Given the description of an element on the screen output the (x, y) to click on. 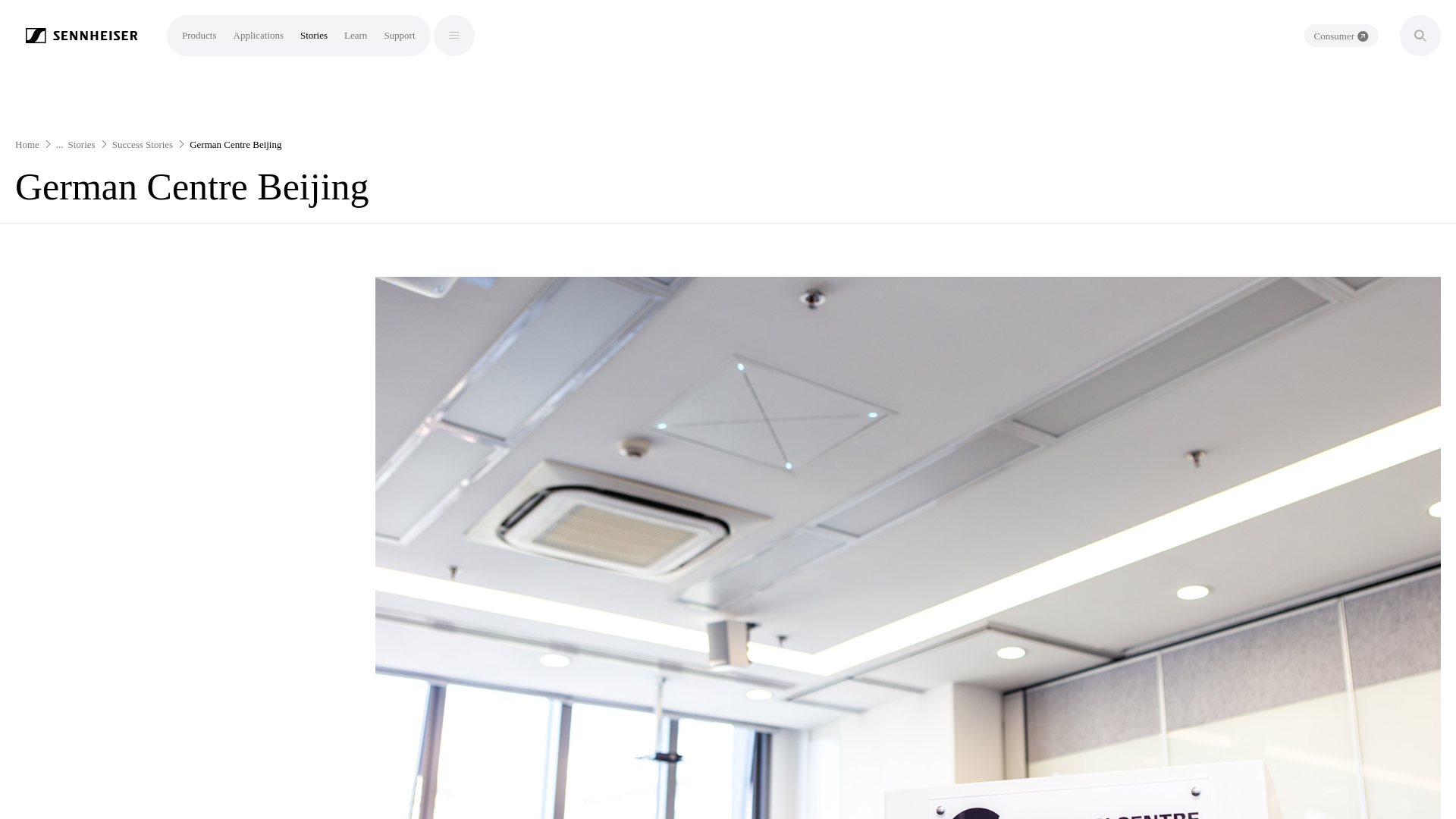
Home (26, 144)
Stories (82, 144)
Learn (354, 35)
Stories (313, 35)
Success Stories (142, 144)
Support (399, 35)
Products (199, 35)
Consumer (1341, 35)
Applications (257, 35)
